Given the description of an element on the screen output the (x, y) to click on. 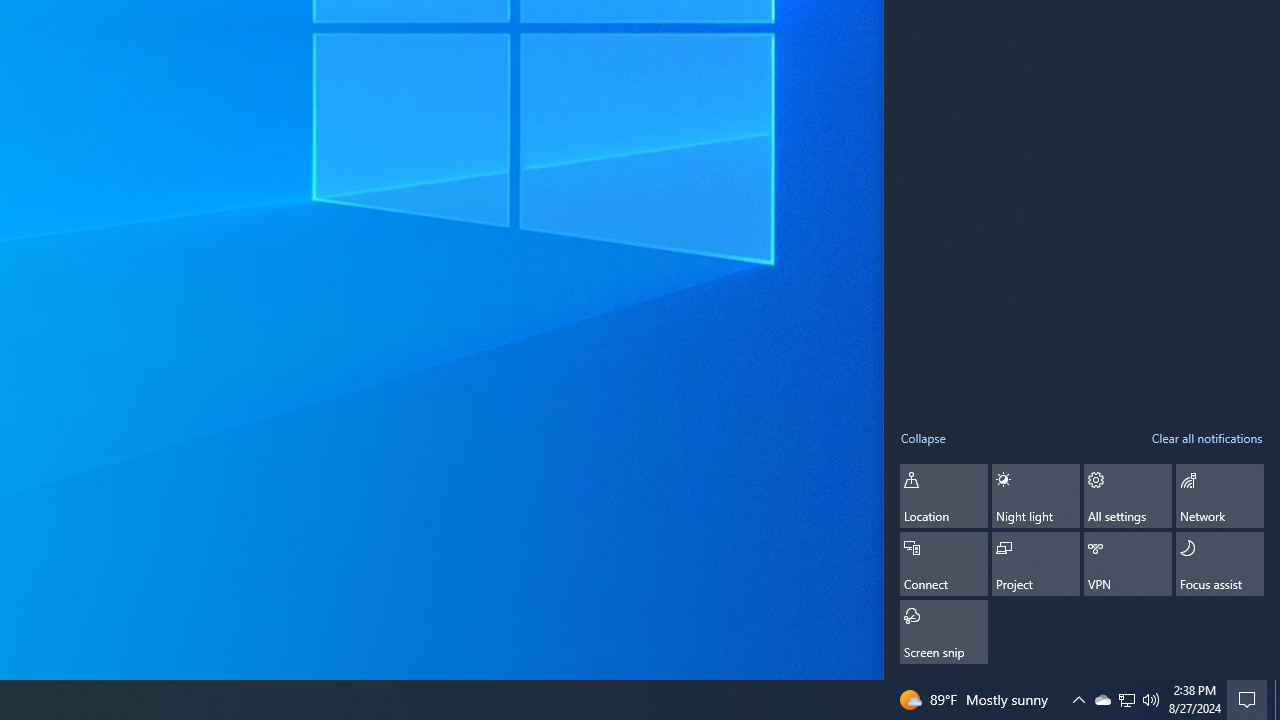
Collapse quick actions (923, 437)
Notification Chevron (1078, 699)
Clear all notifications (1102, 699)
VPN (1206, 437)
User Promoted Notification Area (1128, 564)
All settings (1126, 699)
Q2790: 100% (1126, 699)
Action Center, No new notifications (1128, 495)
Project (1151, 699)
Connect (1250, 699)
Screen snip (1036, 564)
Focus assist (943, 564)
